Given the description of an element on the screen output the (x, y) to click on. 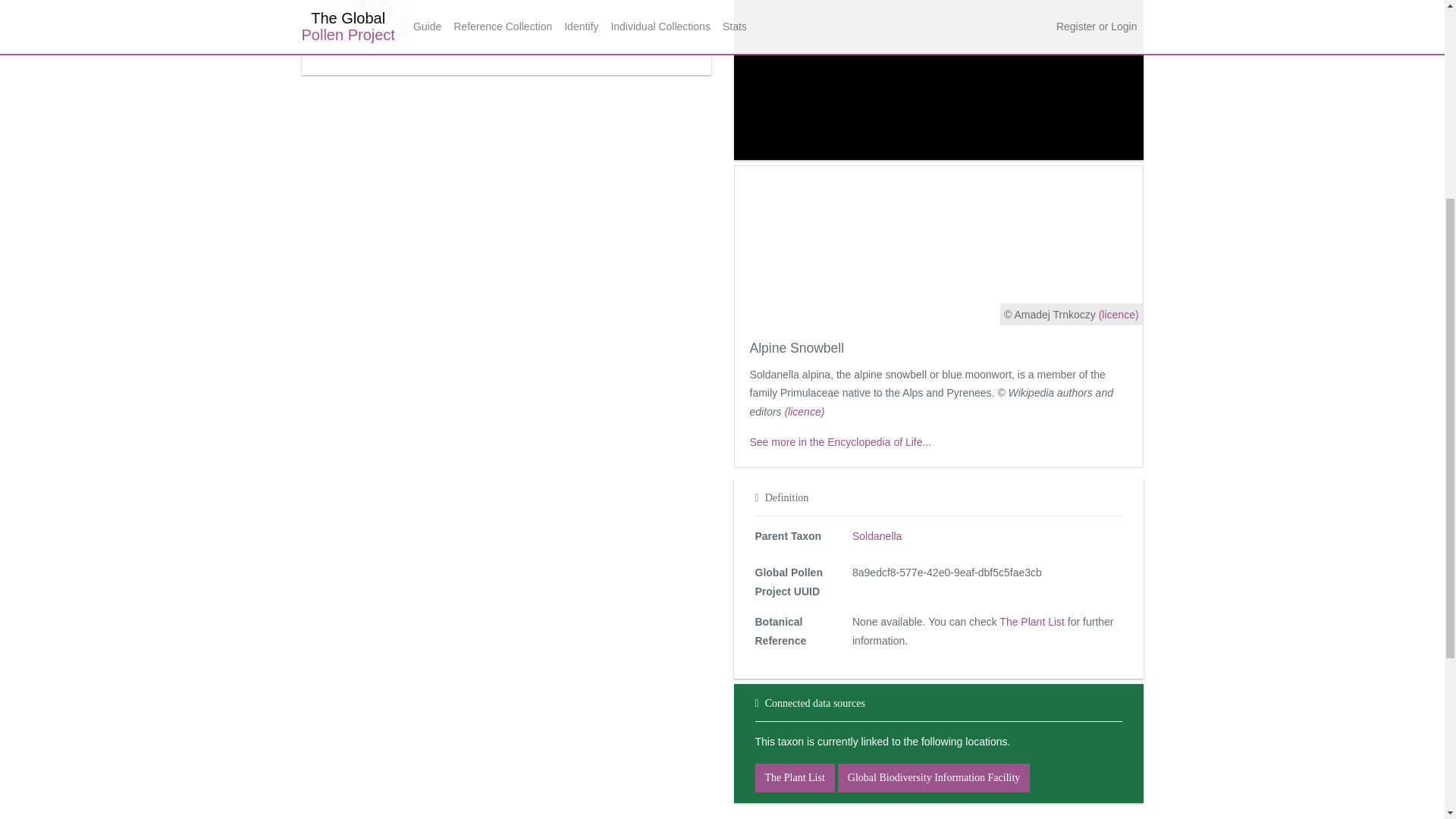
See more in the Encyclopedia of Life... (840, 441)
The Plant List (794, 778)
The Plant List (1031, 621)
Soldanella (876, 535)
Global Biodiversity Information Facility (933, 778)
